Given the description of an element on the screen output the (x, y) to click on. 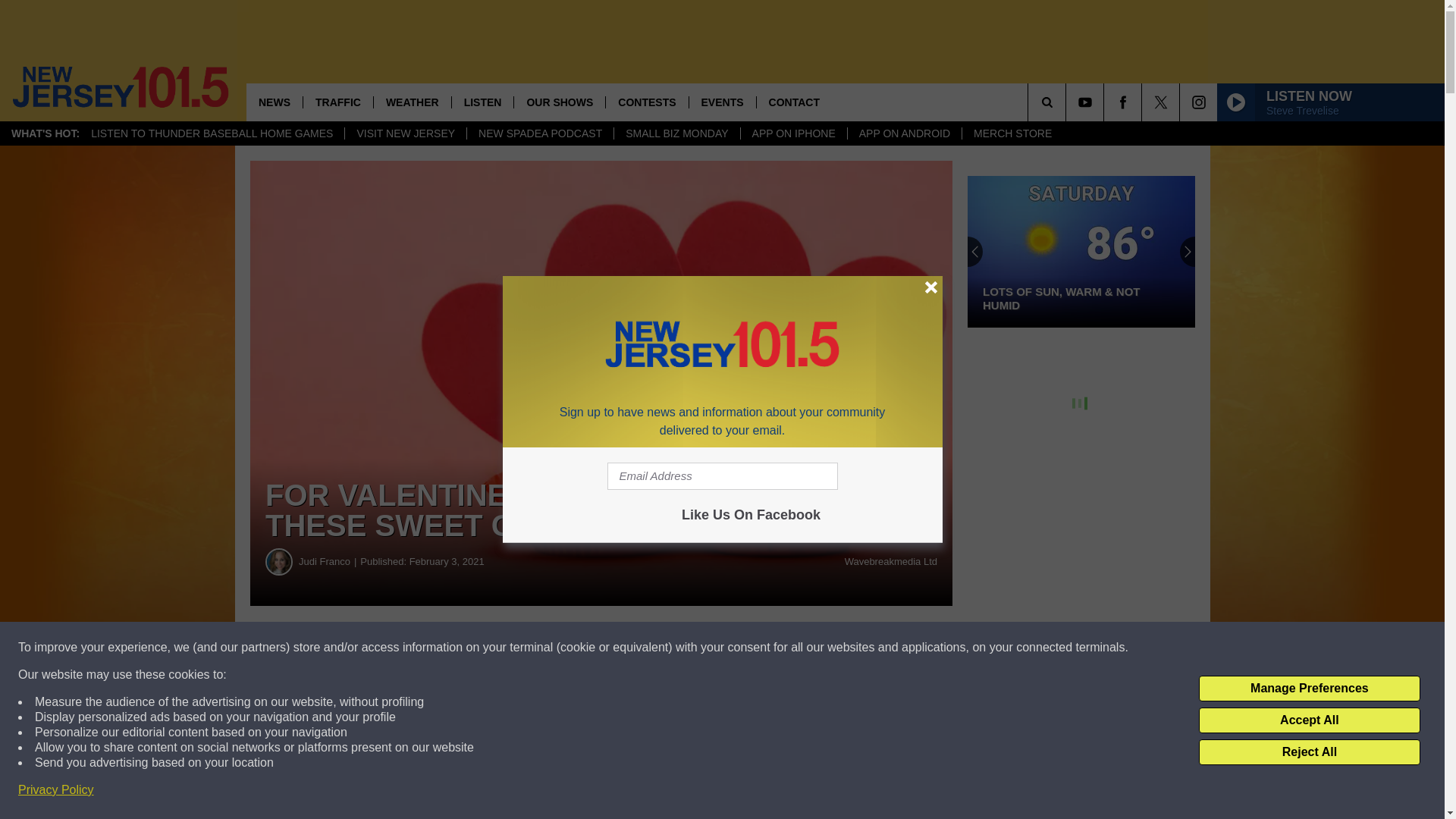
NEW SPADEA PODCAST (538, 133)
Share on Twitter (741, 647)
SMALL BIZ MONDAY (675, 133)
Manage Preferences (1309, 688)
WEATHER (411, 102)
MERCH STORE (1011, 133)
APP ON IPHONE (793, 133)
LISTEN TO THUNDER BASEBALL HOME GAMES (211, 133)
TRAFFIC (337, 102)
NEWS (274, 102)
Accept All (1309, 720)
LISTEN (482, 102)
Privacy Policy (55, 789)
SEARCH (1068, 102)
APP ON ANDROID (903, 133)
